Given the description of an element on the screen output the (x, y) to click on. 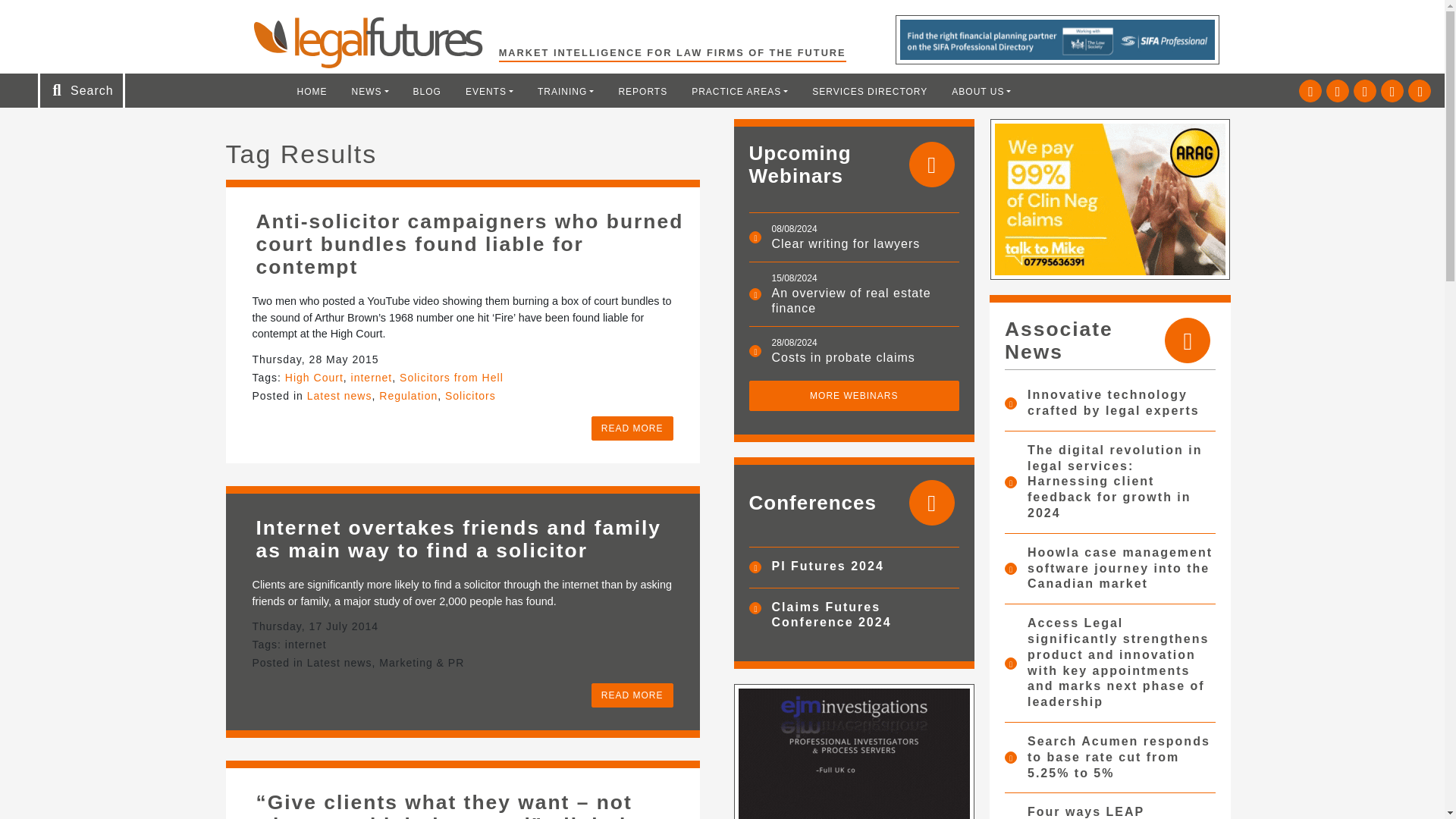
NEWS (370, 91)
SERVICES DIRECTORY (869, 91)
HOME (312, 91)
BLOG (426, 91)
Search (51, 16)
See Legal Futures on Linkedin-in (1337, 90)
Events (488, 91)
PRACTICE AREAS (739, 91)
See Legal Futures on Rss (1419, 90)
See Legal Futures on Youtube (1391, 90)
News (370, 91)
EVENTS (488, 91)
Blog (426, 91)
Legal Futures homepage (375, 42)
Home (312, 91)
